Given the description of an element on the screen output the (x, y) to click on. 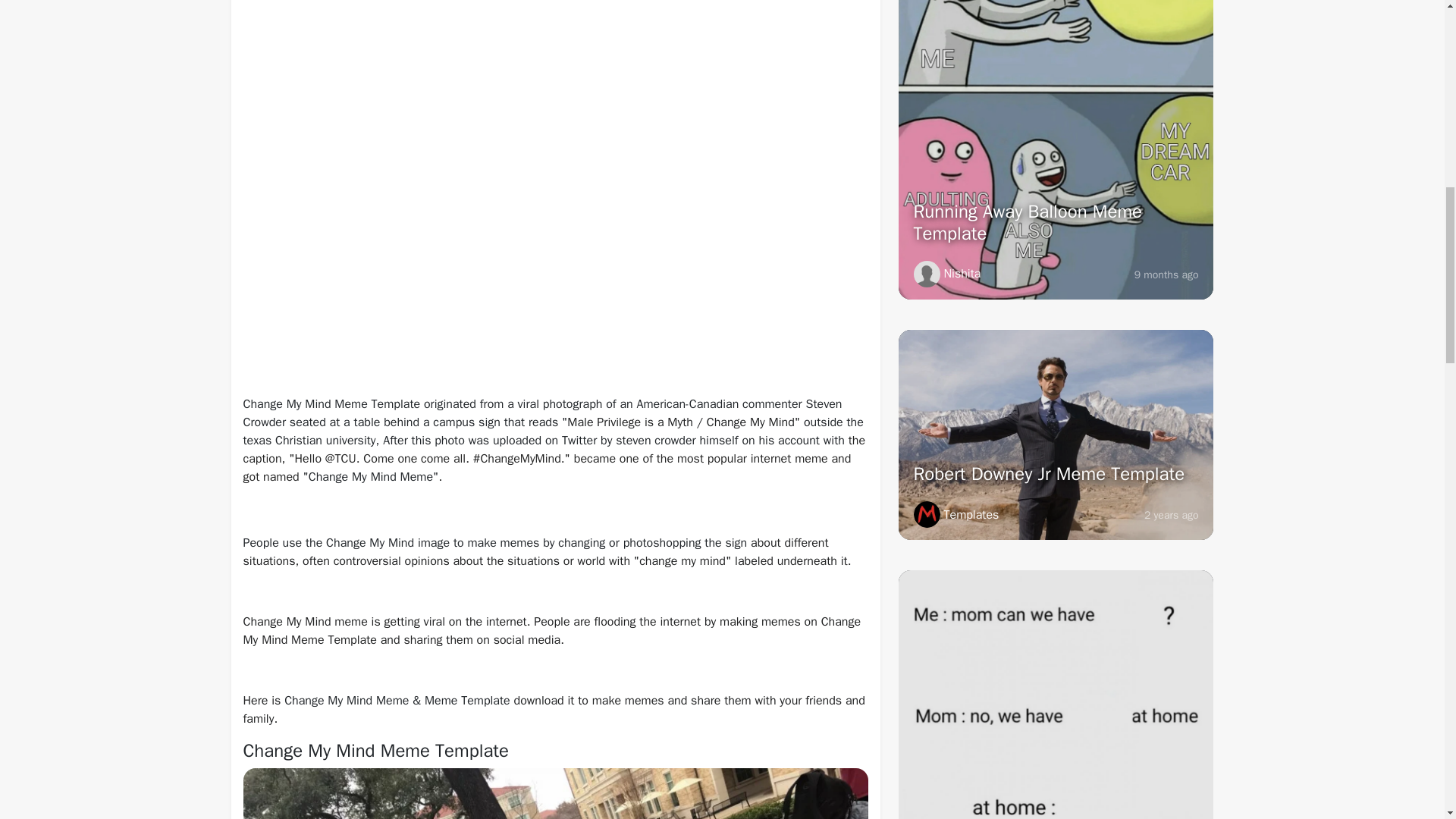
Advertisement (555, 271)
Nishita (945, 274)
Templates (955, 514)
